Given the description of an element on the screen output the (x, y) to click on. 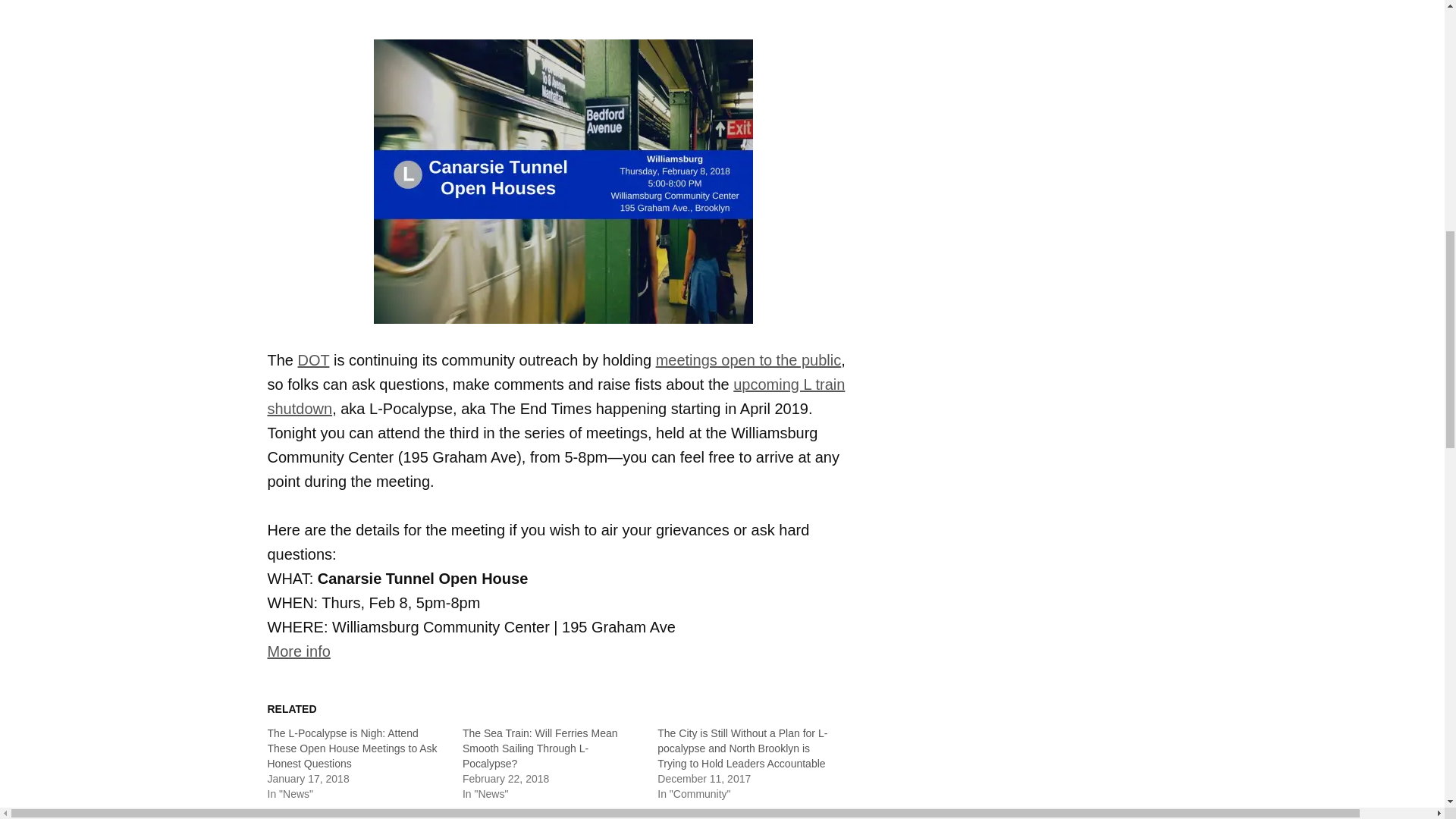
3rd party ad content (1040, 687)
